Given the description of an element on the screen output the (x, y) to click on. 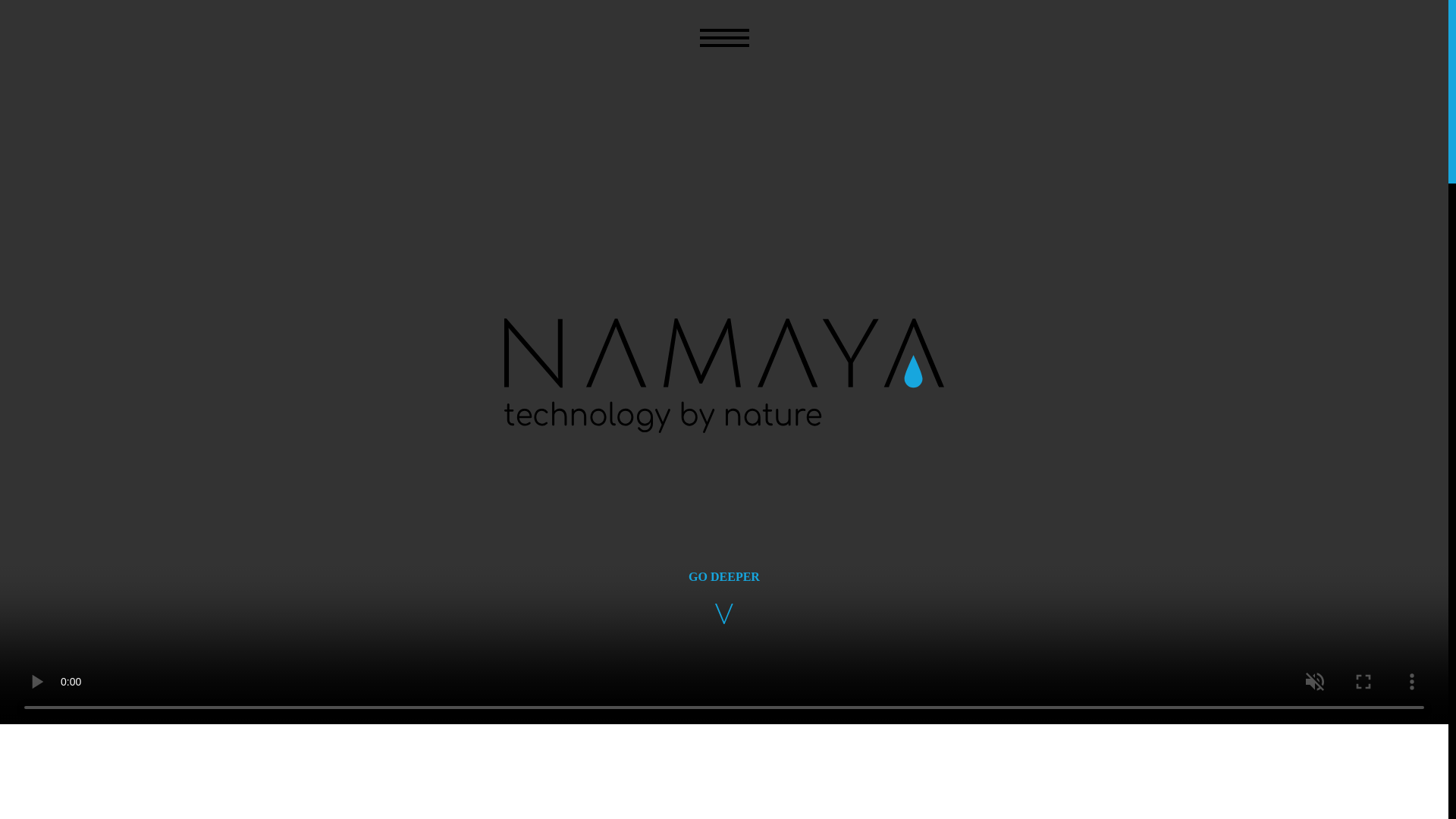
GO DEEPER (724, 596)
GO DEEPER (724, 596)
